Given the description of an element on the screen output the (x, y) to click on. 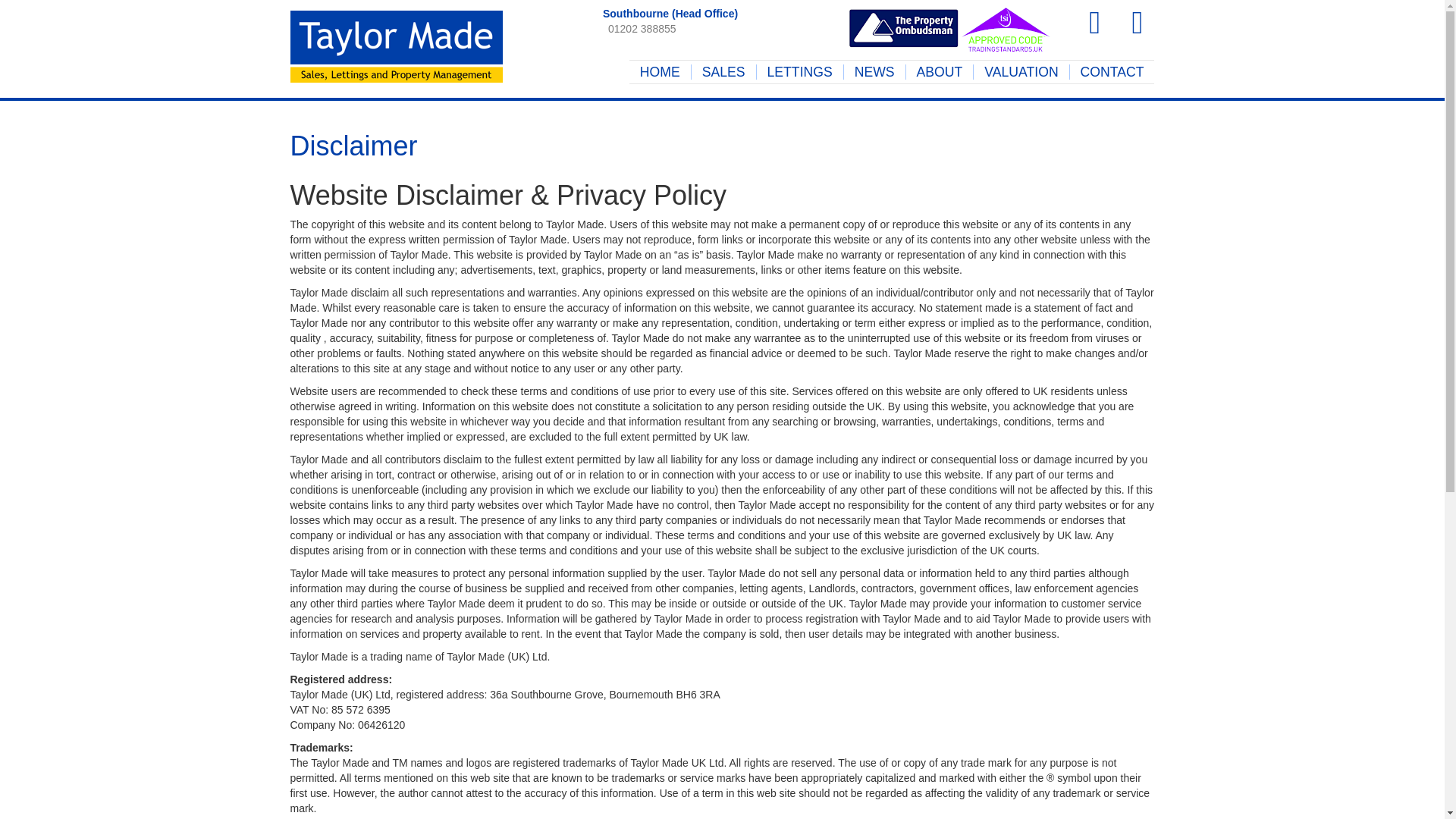
Contact (1112, 71)
Valuation (1021, 71)
News (874, 71)
LETTINGS (800, 71)
Sales (723, 71)
Home (659, 71)
NEWS (874, 71)
CONTACT (1112, 71)
HOME (659, 71)
SALES (723, 71)
